Given the description of an element on the screen output the (x, y) to click on. 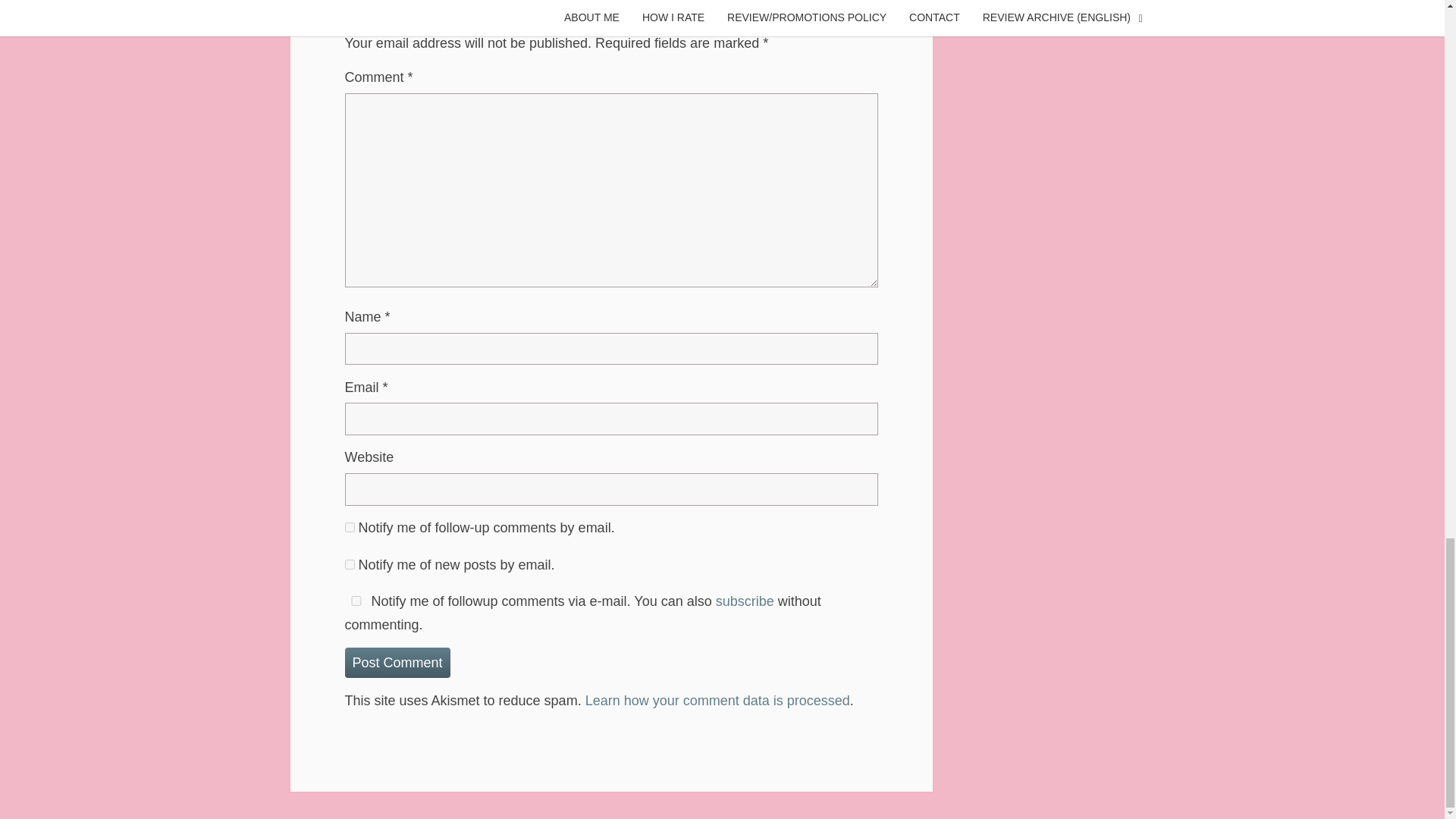
Post Comment (396, 662)
subscribe (348, 527)
subscribe (348, 564)
yes (354, 601)
